Given the description of an element on the screen output the (x, y) to click on. 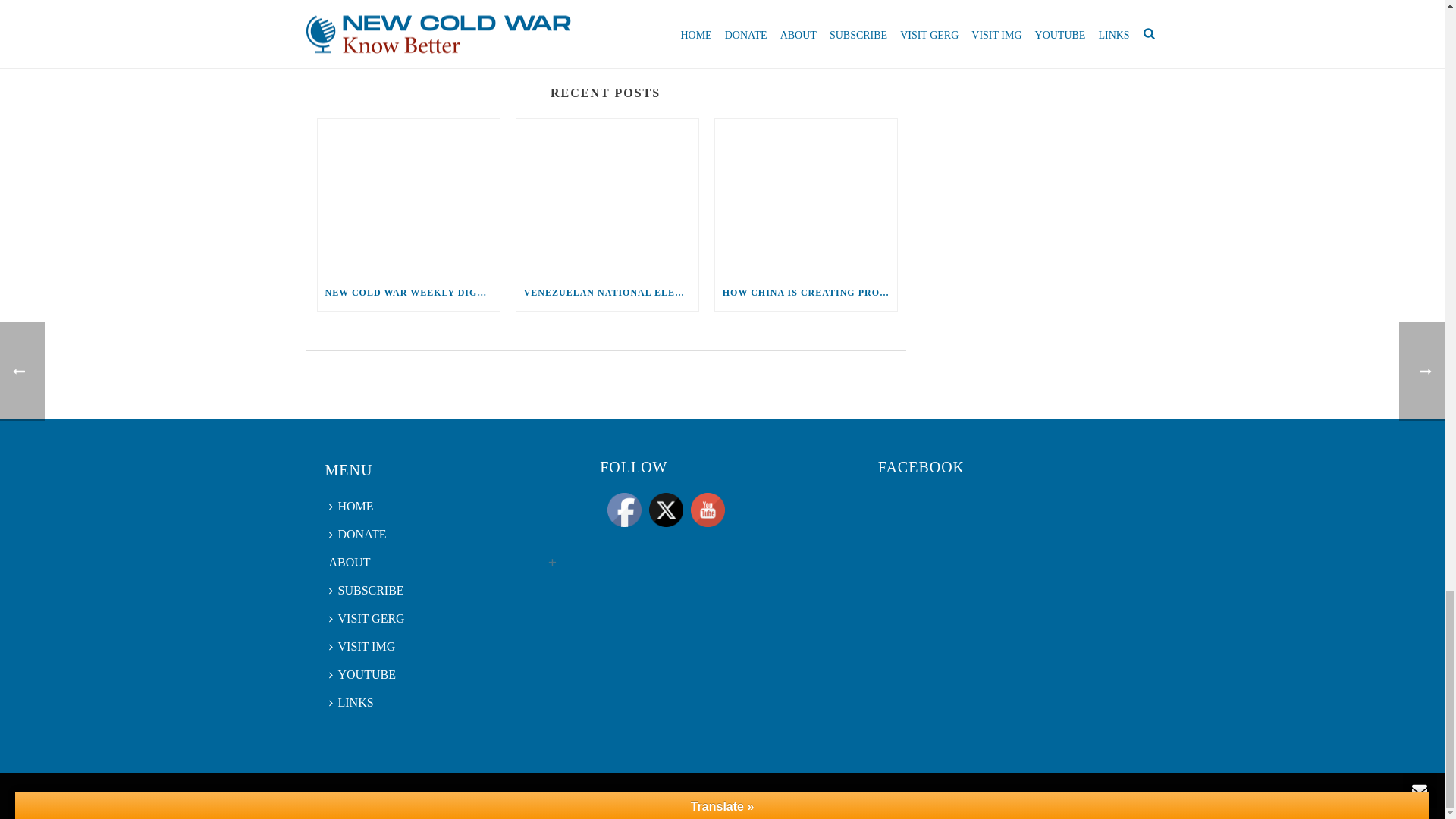
Twitter (665, 510)
YOUTUBE (707, 510)
How China is Creating Prosperity (805, 196)
Facebook (624, 510)
